Given the description of an element on the screen output the (x, y) to click on. 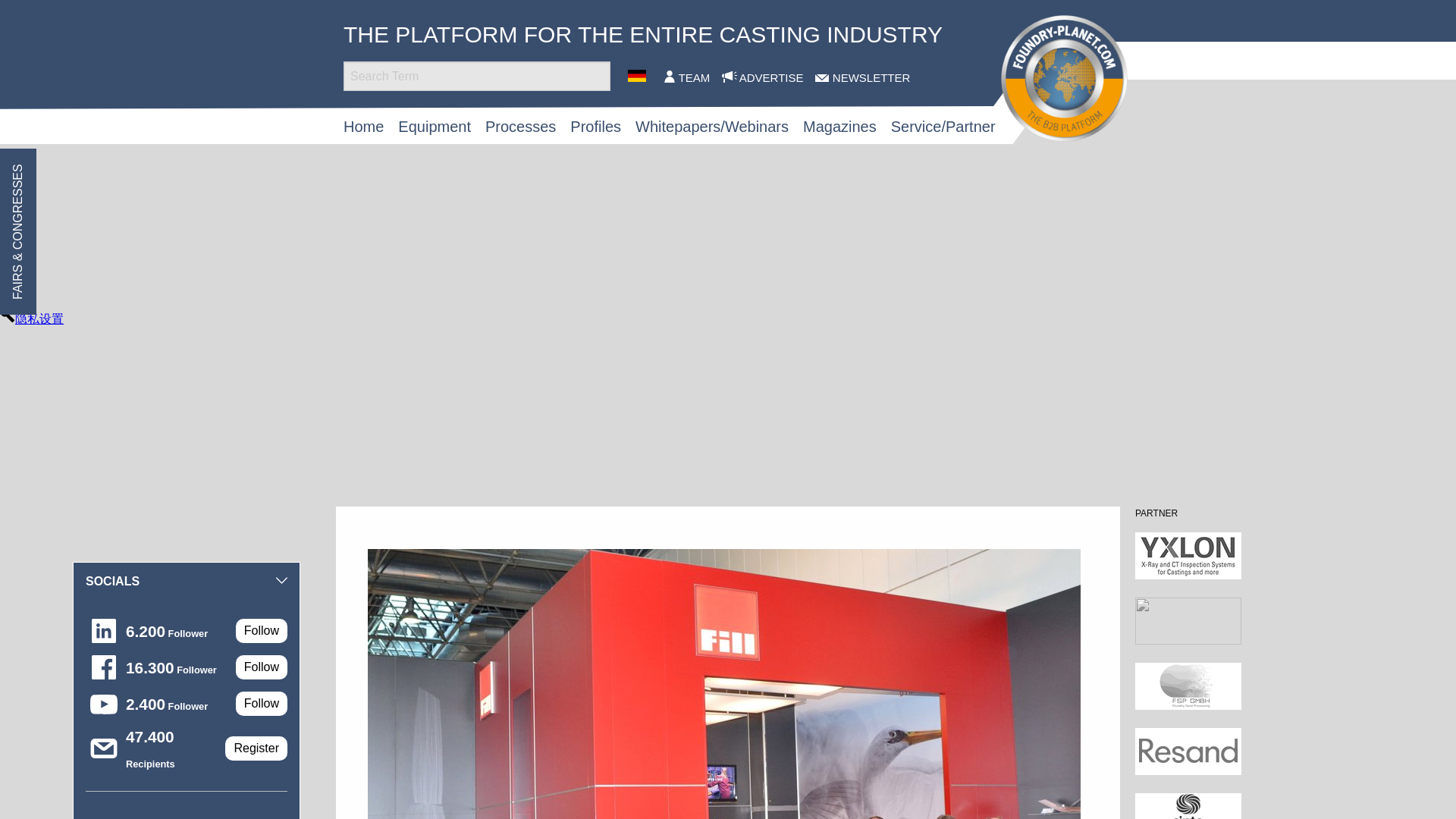
Linkedin (103, 630)
NEWSLETTER (868, 77)
Facebook (103, 667)
Newsletter (868, 77)
TEAM (692, 77)
Home (363, 126)
Profiles (595, 126)
ADVERTISE (768, 77)
Magazines (839, 126)
Youtube (103, 703)
Equipment (433, 126)
Home (363, 126)
Magazines (839, 126)
Profiles (595, 126)
Processes (520, 126)
